Given the description of an element on the screen output the (x, y) to click on. 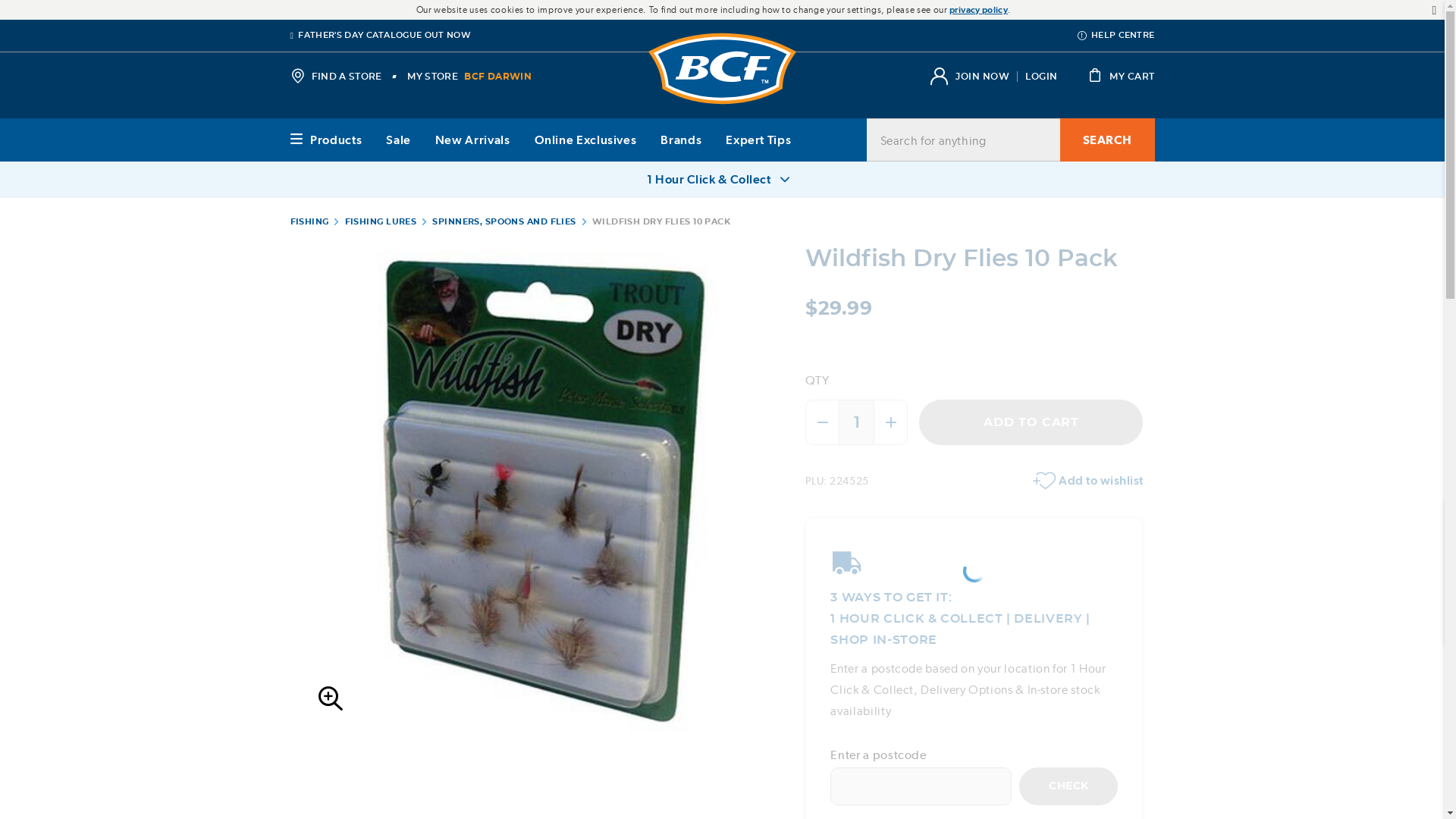
Go to: Join Now (982, 75)
privacy policy (978, 9)
BCF DARWIN (497, 75)
1 (856, 422)
Products (325, 138)
FATHER'S DAY CATALOGUE OUT NOW (379, 35)
MY CART (1120, 75)
JOIN NOW (982, 75)
FIND A STORE (335, 75)
HELP CENTRE (1115, 35)
